Given the description of an element on the screen output the (x, y) to click on. 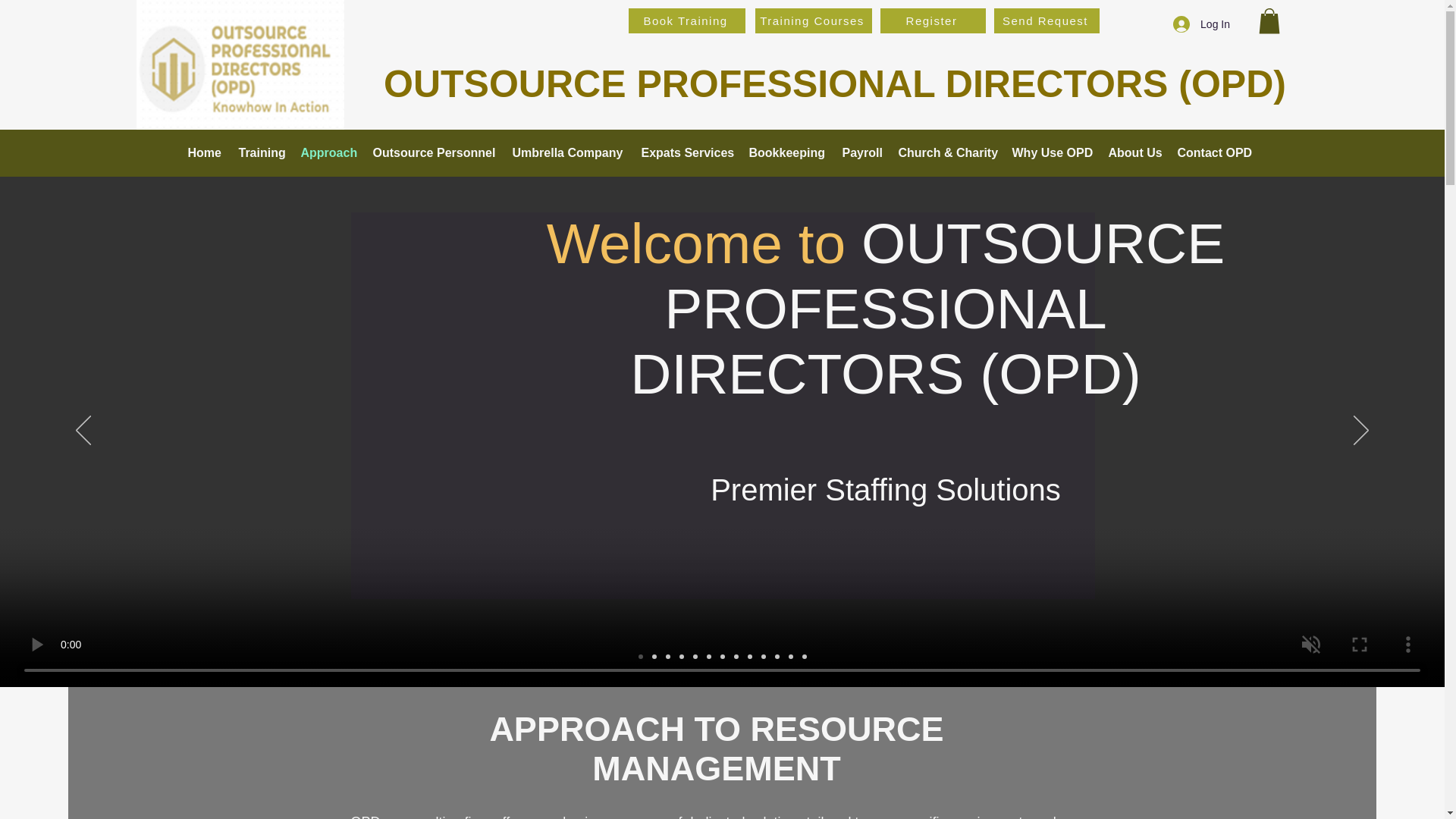
About Us (1135, 152)
Log In (1200, 24)
Training Courses (813, 20)
Home (205, 152)
Why Use OPD (1052, 152)
Training (261, 152)
Expats Services (687, 152)
Register (932, 20)
Send Request (1046, 20)
Umbrella Company (569, 152)
